Given the description of an element on the screen output the (x, y) to click on. 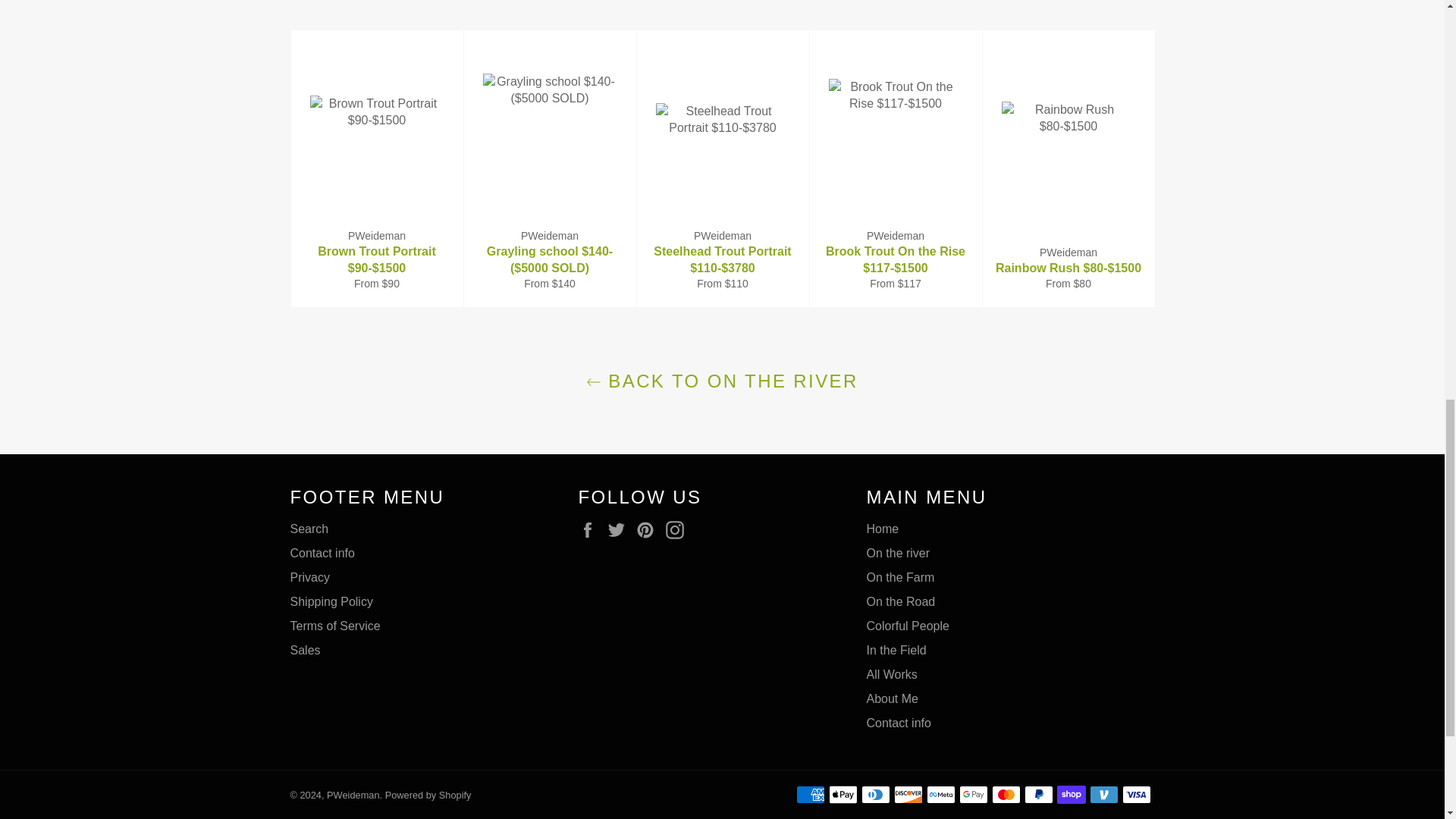
PWeideman on Facebook (591, 529)
PWeideman on Instagram (678, 529)
PWeideman on Pinterest (649, 529)
PWeideman on Twitter (620, 529)
